Given the description of an element on the screen output the (x, y) to click on. 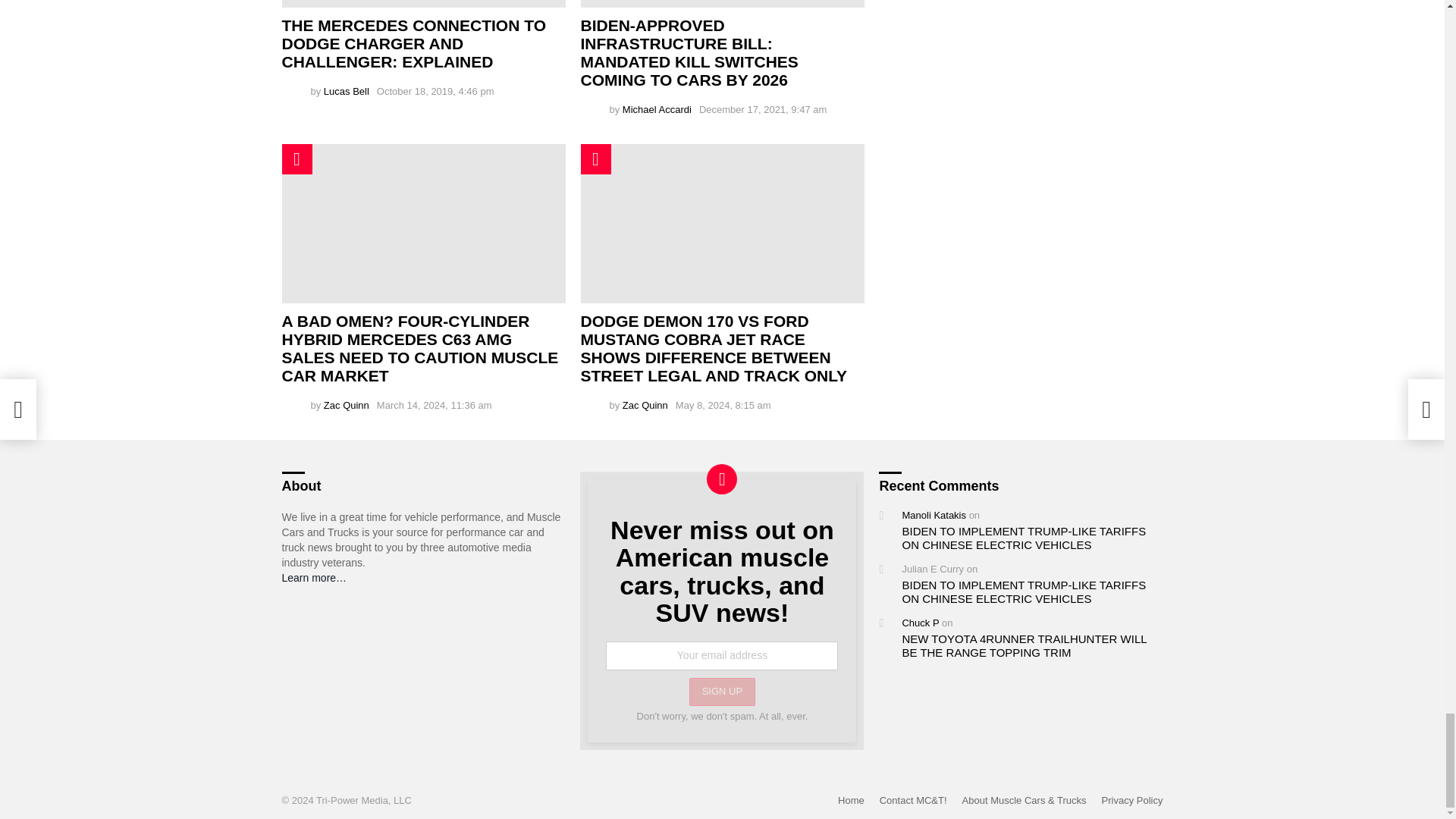
Sign up (721, 691)
